Given the description of an element on the screen output the (x, y) to click on. 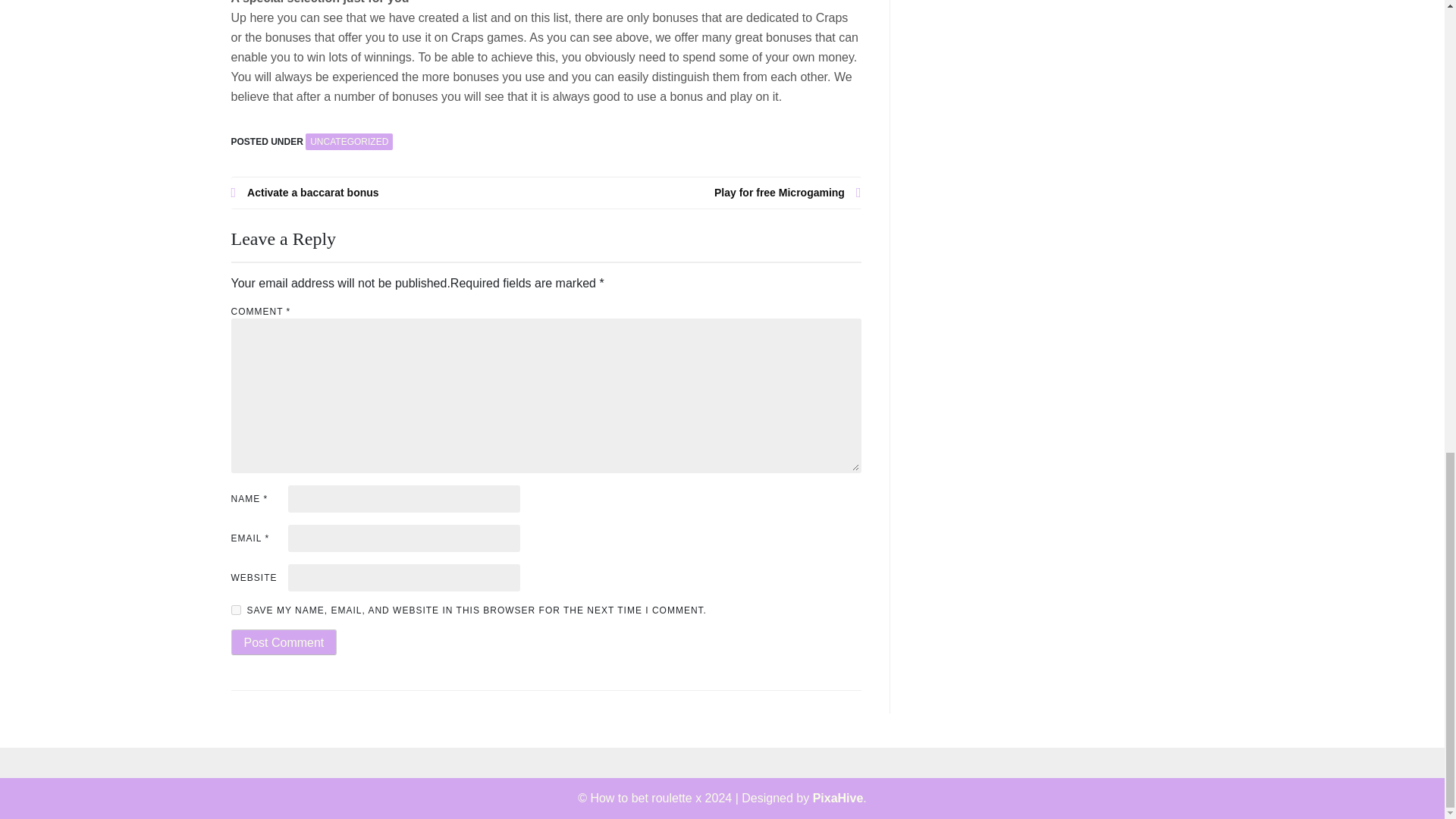
UNCATEGORIZED (349, 141)
PixaHive (837, 797)
yes (235, 610)
Activate a baccarat bonus (388, 192)
Post Comment (283, 642)
Play for free Microgaming (703, 192)
Post Comment (283, 642)
